Given the description of an element on the screen output the (x, y) to click on. 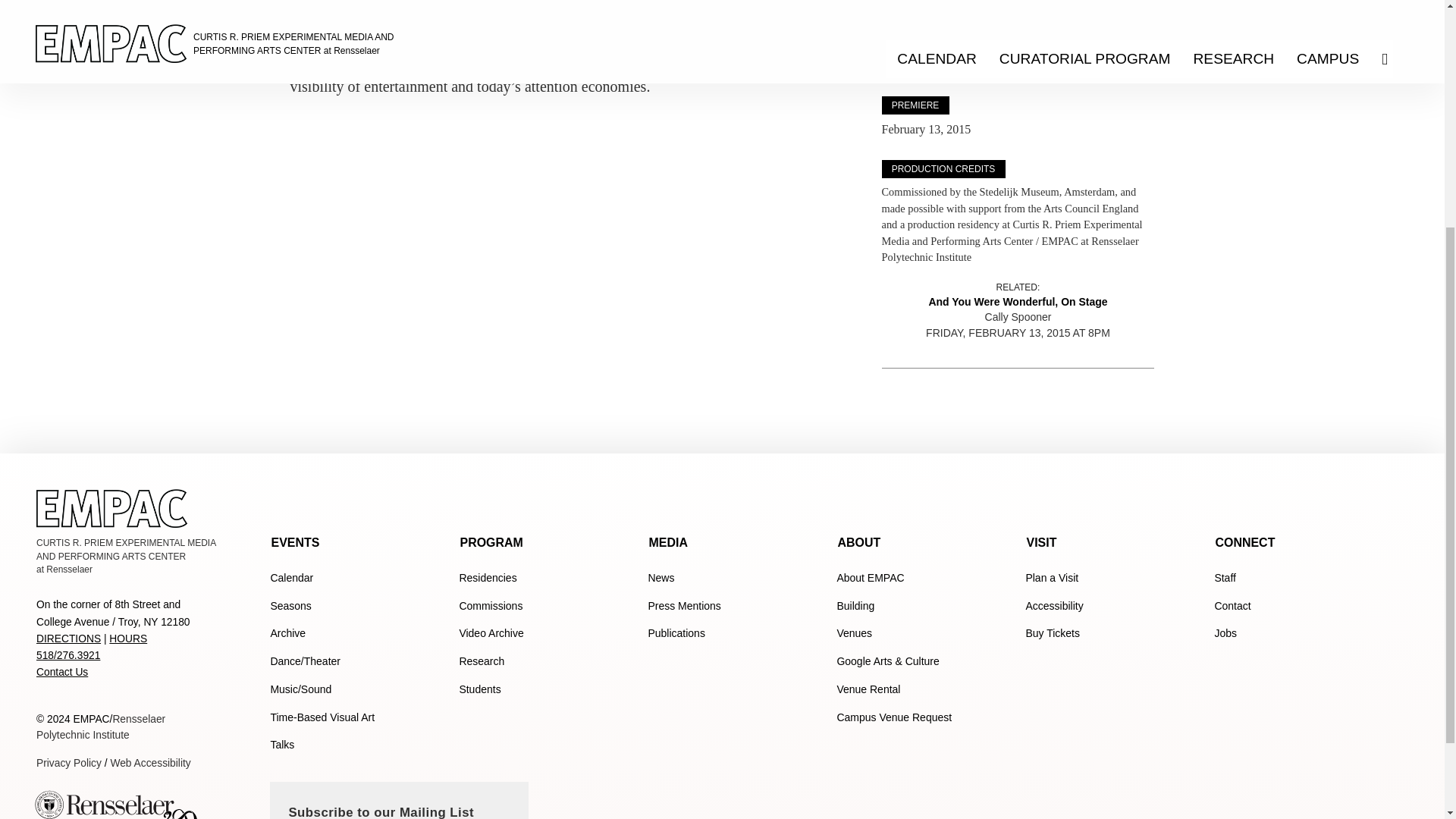
And You Were Wonderful, On Stage (1017, 303)
Cally Spooner (915, 4)
Contact Us (61, 672)
Talks and Lectures (357, 746)
Privacy Policy (68, 763)
HOURS (128, 638)
Video Archive (547, 633)
Vic Brooks (908, 65)
Music and Sound events (357, 689)
Time-Based Visual Art Events (357, 717)
DIRECTIONS (68, 638)
Web Accessibility (100, 727)
